Given the description of an element on the screen output the (x, y) to click on. 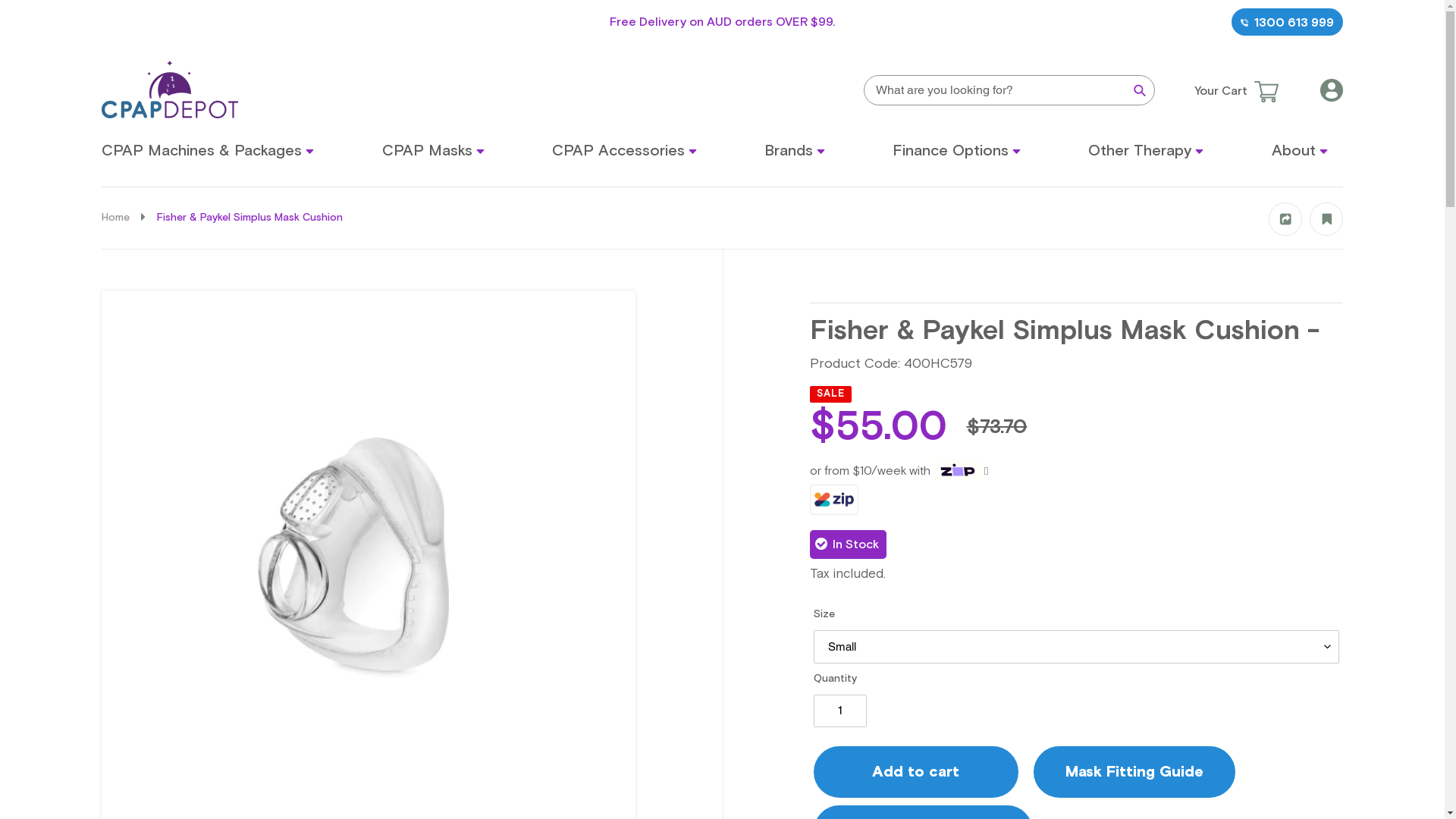
Submit Element type: text (1139, 87)
Submit Element type: text (839, 450)
Bookmark product Element type: hover (1326, 230)
CPAP Machines & Packages Element type: text (207, 150)
Home Element type: text (115, 217)
1300 613 999 Element type: text (1287, 21)
About Element type: text (1299, 150)
Share this product Element type: hover (1285, 230)
Brands Element type: text (794, 150)
Other Therapy Element type: text (1145, 150)
Your Cart Element type: text (1232, 90)
Finance Options Element type: text (956, 150)
CPAP Masks Element type: text (433, 150)
CPAP Accessories Element type: text (624, 150)
Mask Fitting Guide Element type: text (1133, 771)
Add to cart Element type: text (914, 771)
